Given the description of an element on the screen output the (x, y) to click on. 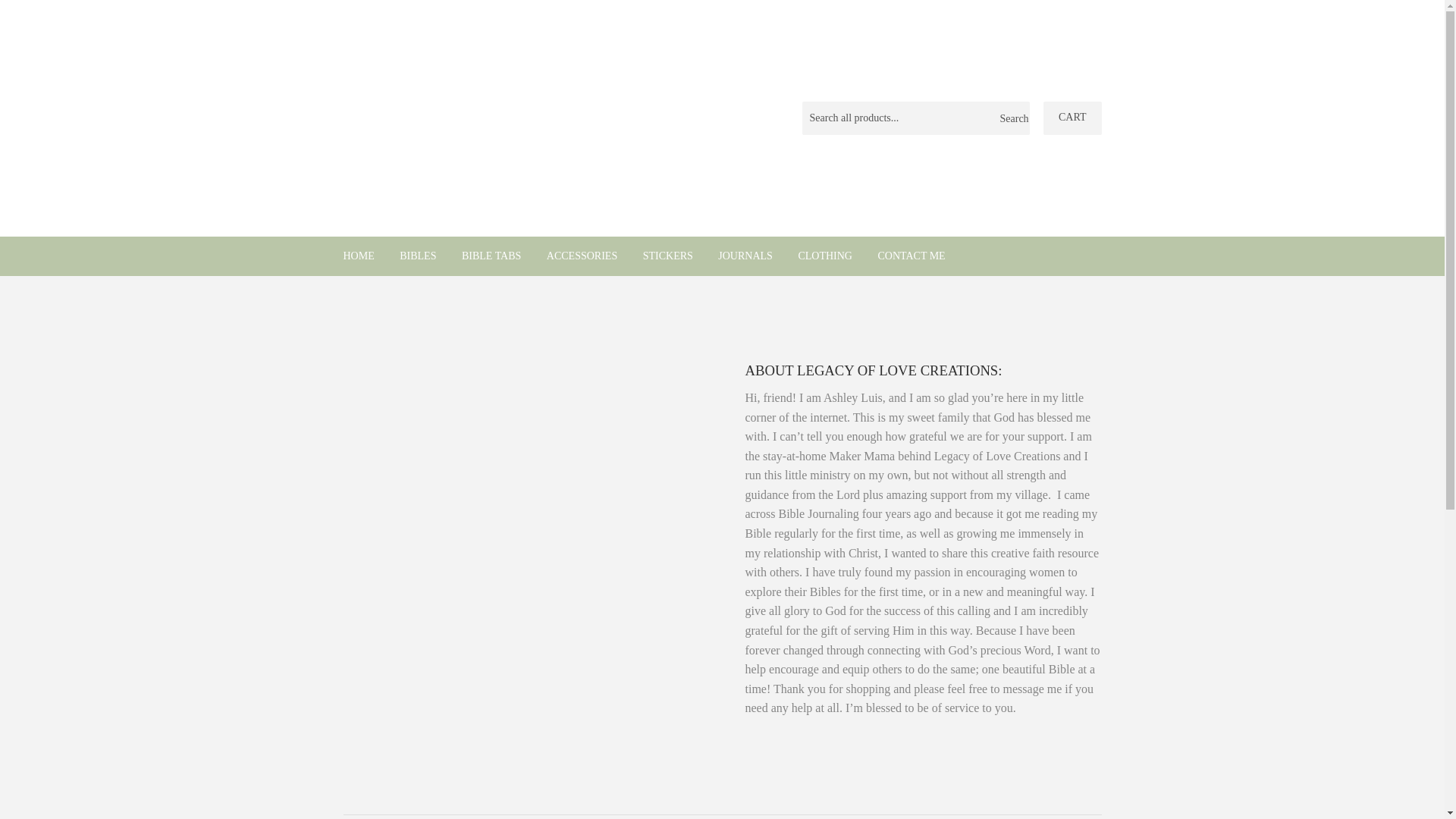
BIBLES (417, 256)
Search (1011, 119)
HOME (358, 256)
CART (1072, 118)
